Given the description of an element on the screen output the (x, y) to click on. 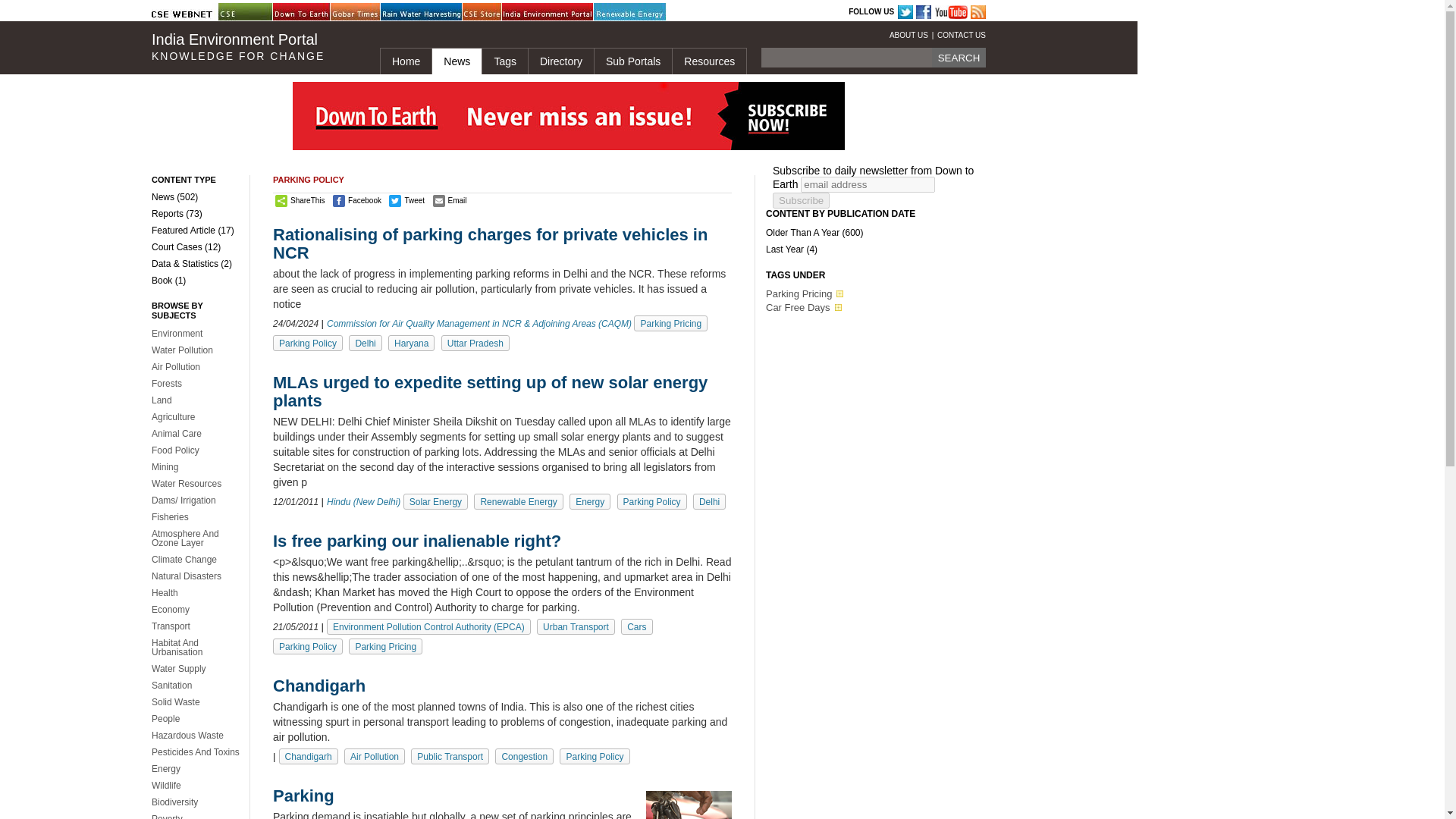
Sub Portals (632, 60)
CSE Store (500, 11)
Resources (708, 60)
Tags (504, 60)
Rain Water Harvesting (418, 11)
News (455, 60)
Renewable Energy (631, 11)
Subscribe (801, 200)
Home (405, 60)
CSE (256, 11)
Gobar Times (368, 11)
Directory (560, 60)
India Environment Portal (540, 11)
India Environment Portal KNOWLEDGE FOR CHANGE (253, 46)
Down to Earth (311, 11)
